Given the description of an element on the screen output the (x, y) to click on. 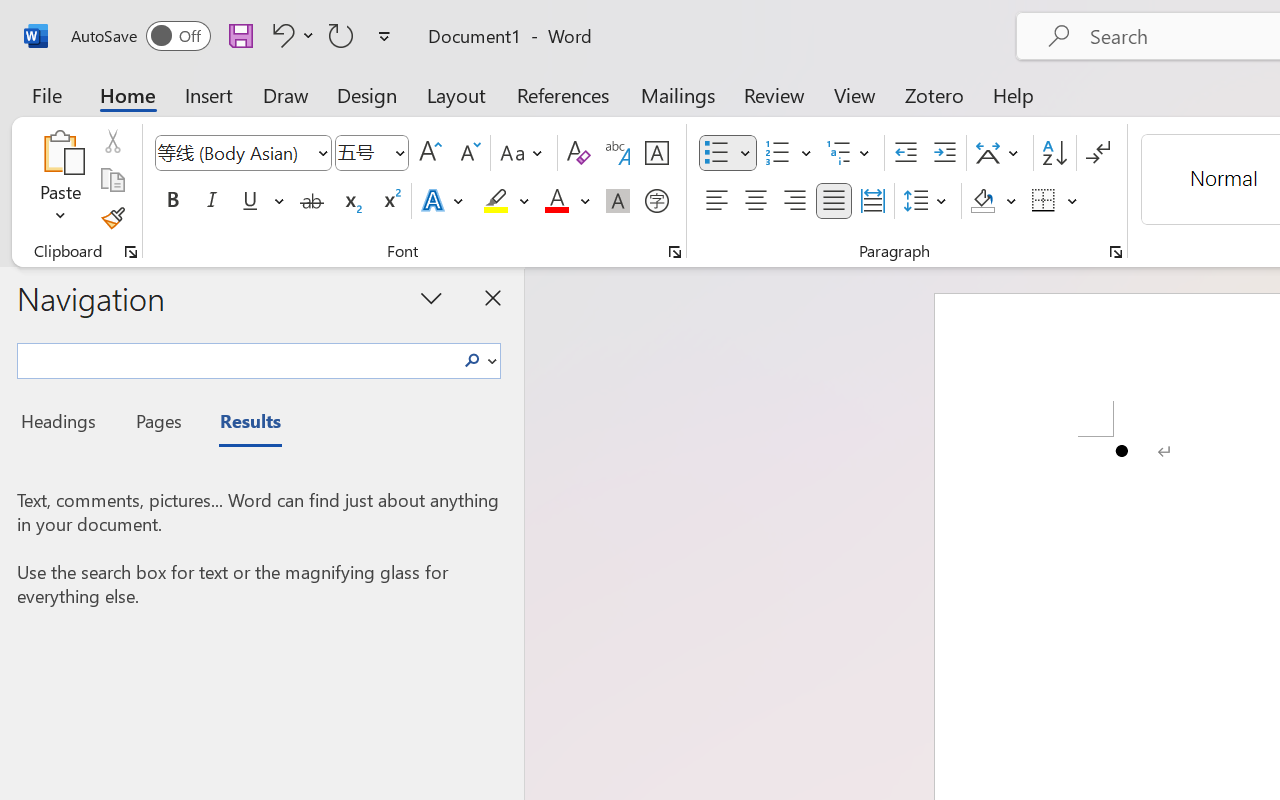
Headings (64, 424)
